Given the description of an element on the screen output the (x, y) to click on. 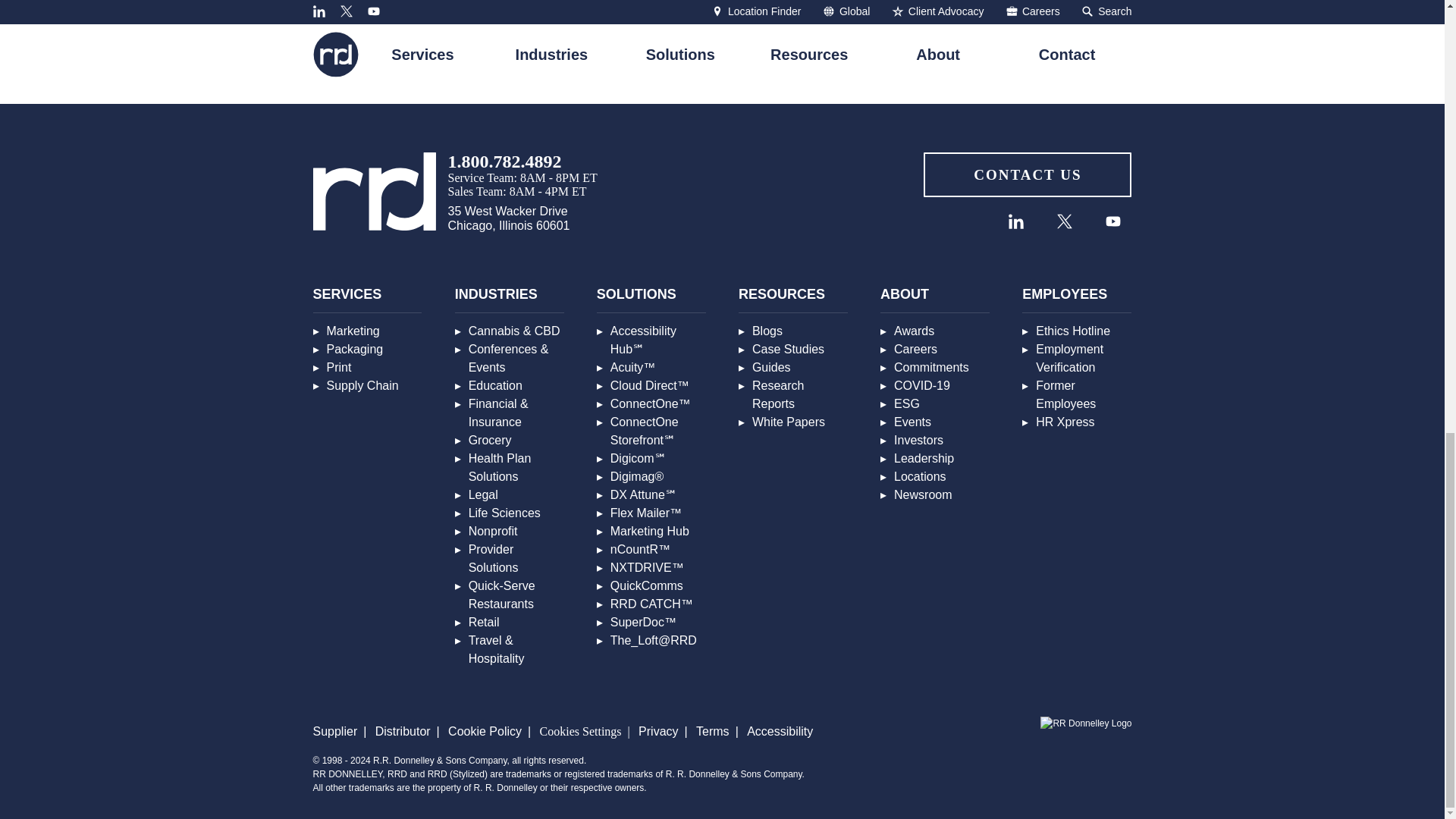
YoutubeYoutube icon for footer (1113, 221)
Youtube (1112, 221)
LinkedIn (1015, 221)
TwitterX icon for footer (1064, 221)
Twitter (1064, 221)
rrdlogo for footer (374, 191)
LinkedInLinkedIn icon for footer (1016, 221)
